Given the description of an element on the screen output the (x, y) to click on. 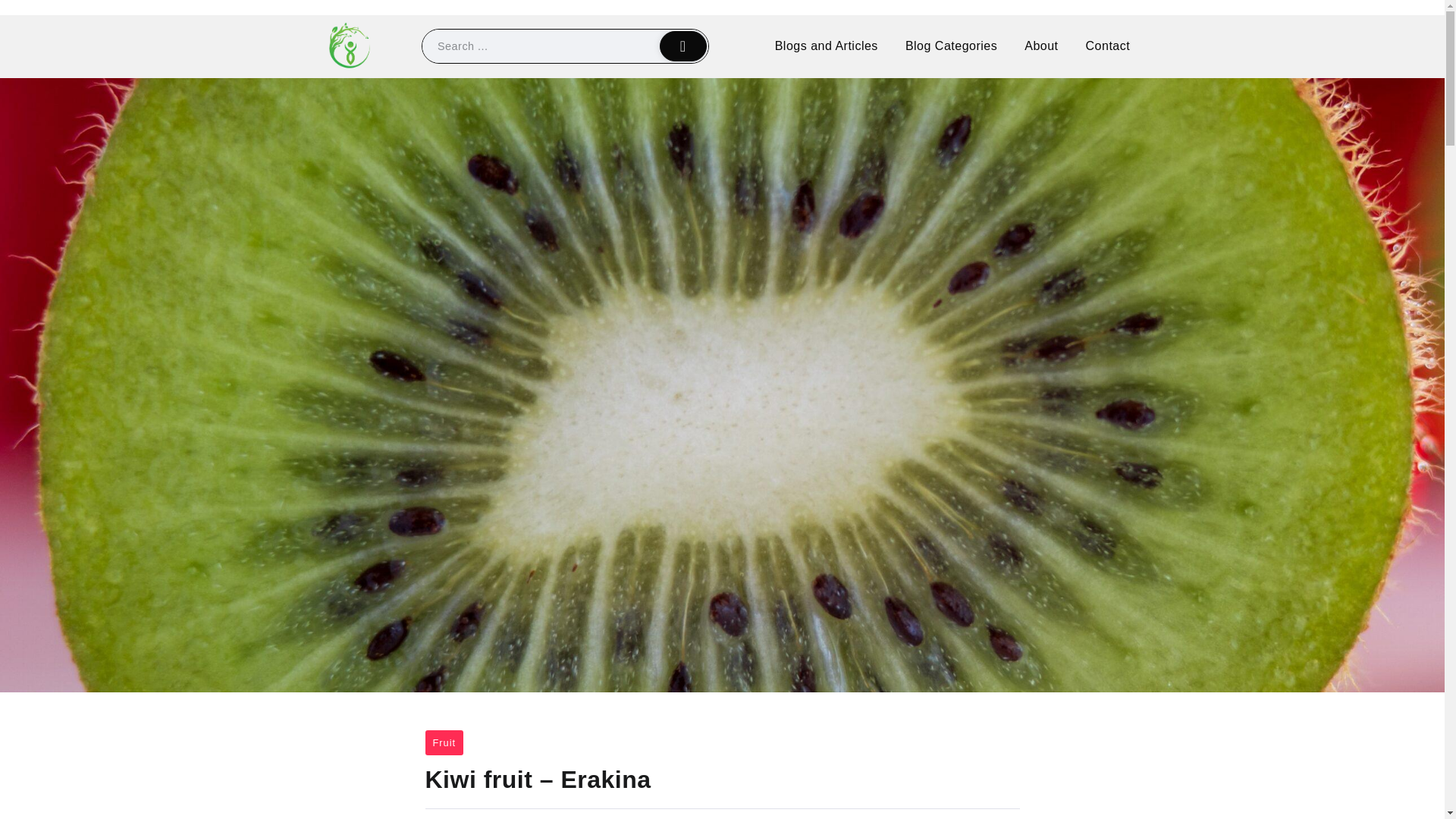
About (1040, 46)
Fruit (444, 742)
Contact (1107, 46)
Blogs and Articles (826, 46)
Fruit (444, 742)
Blog Categories (950, 46)
